Given the description of an element on the screen output the (x, y) to click on. 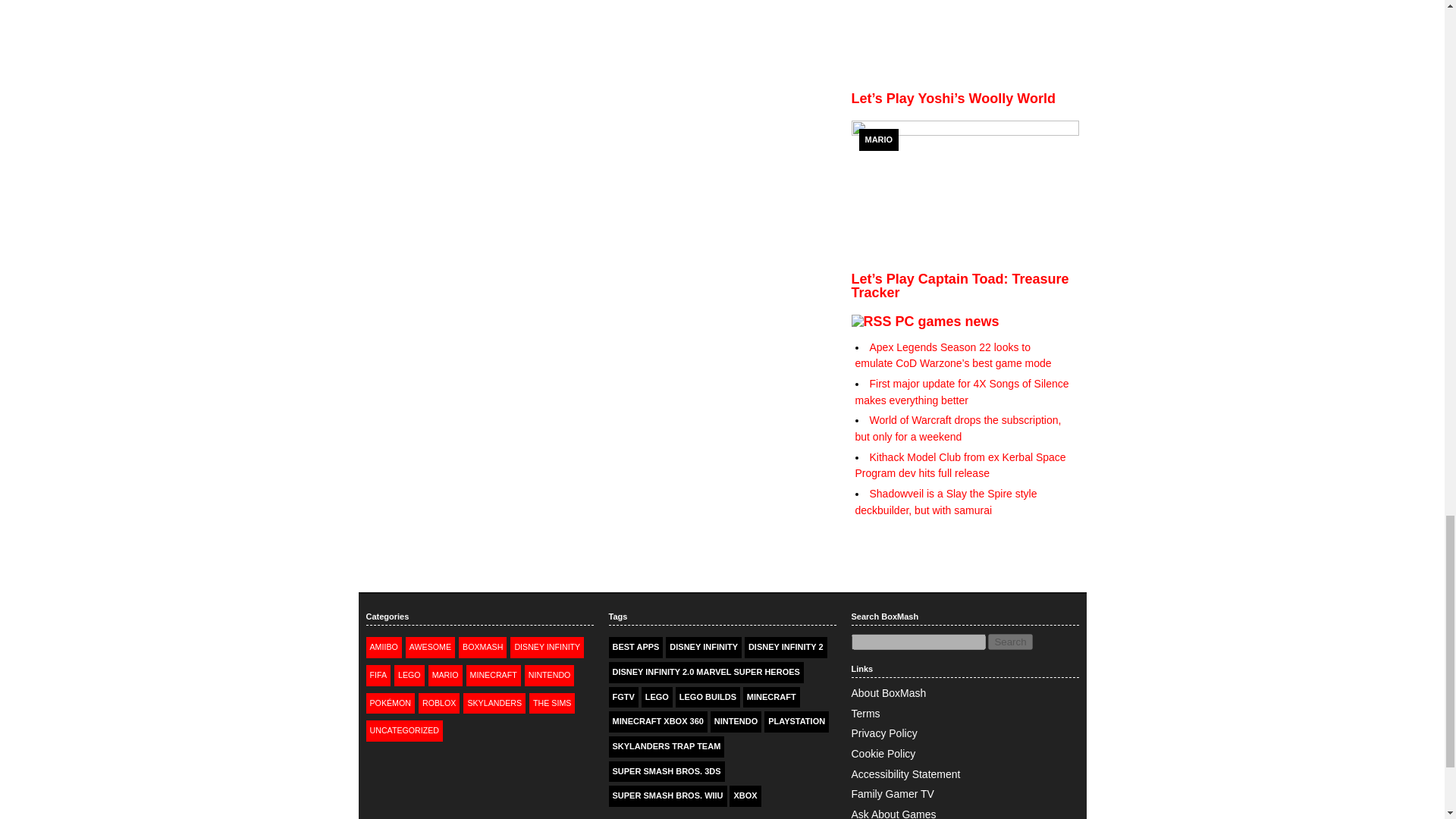
Search (1010, 641)
